Given the description of an element on the screen output the (x, y) to click on. 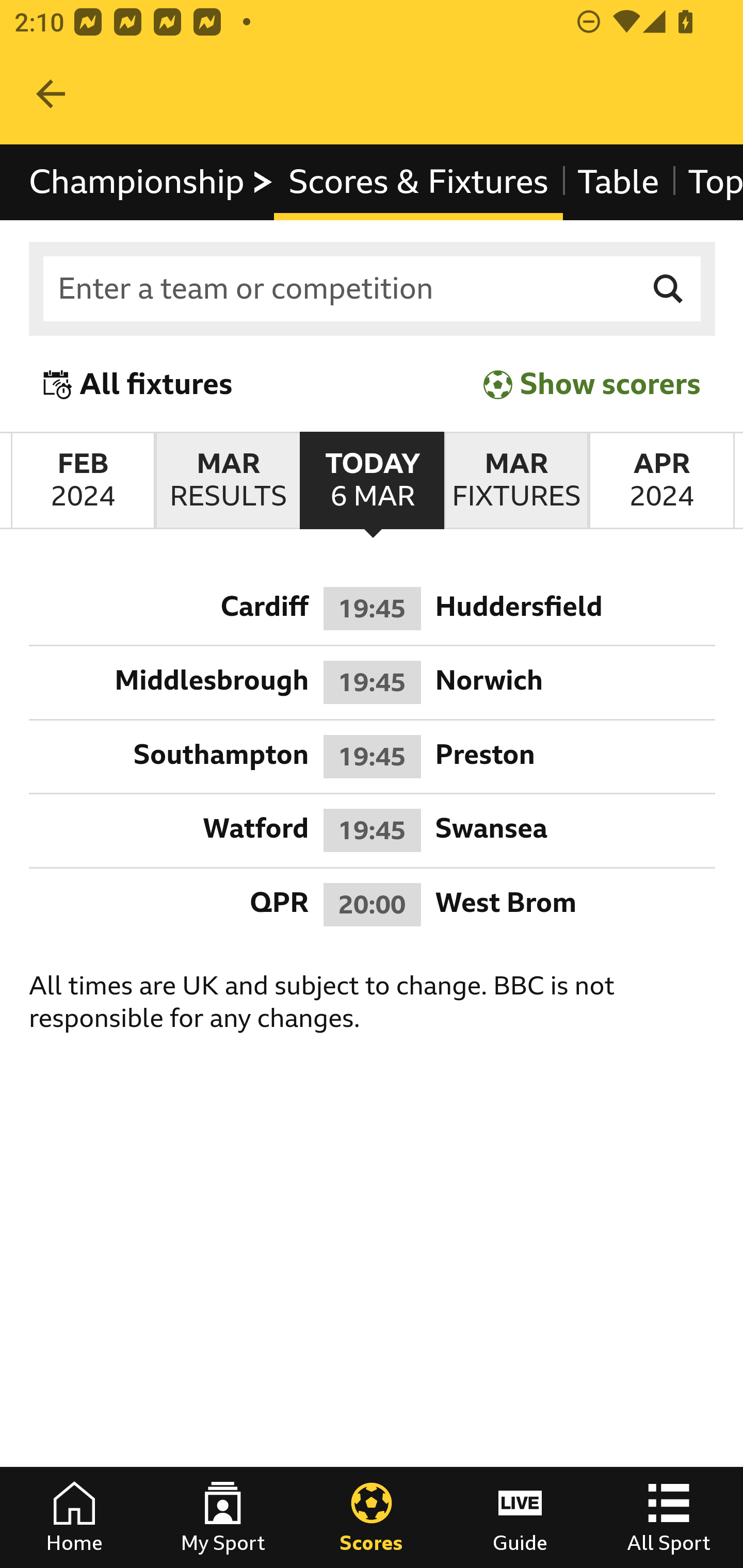
Navigate up (50, 93)
Championship  (151, 181)
Scores & Fixtures (417, 181)
Table (618, 181)
Top Scorers (707, 181)
Search (669, 289)
All fixtures (137, 383)
Show scorers (591, 383)
February2024 February 2024 (83, 480)
MarchRESULTS March RESULTS (227, 480)
MarchFIXTURES March FIXTURES (516, 480)
April2024 April 2024 (661, 480)
Home (74, 1517)
My Sport (222, 1517)
Guide (519, 1517)
All Sport (668, 1517)
